Given the description of an element on the screen output the (x, y) to click on. 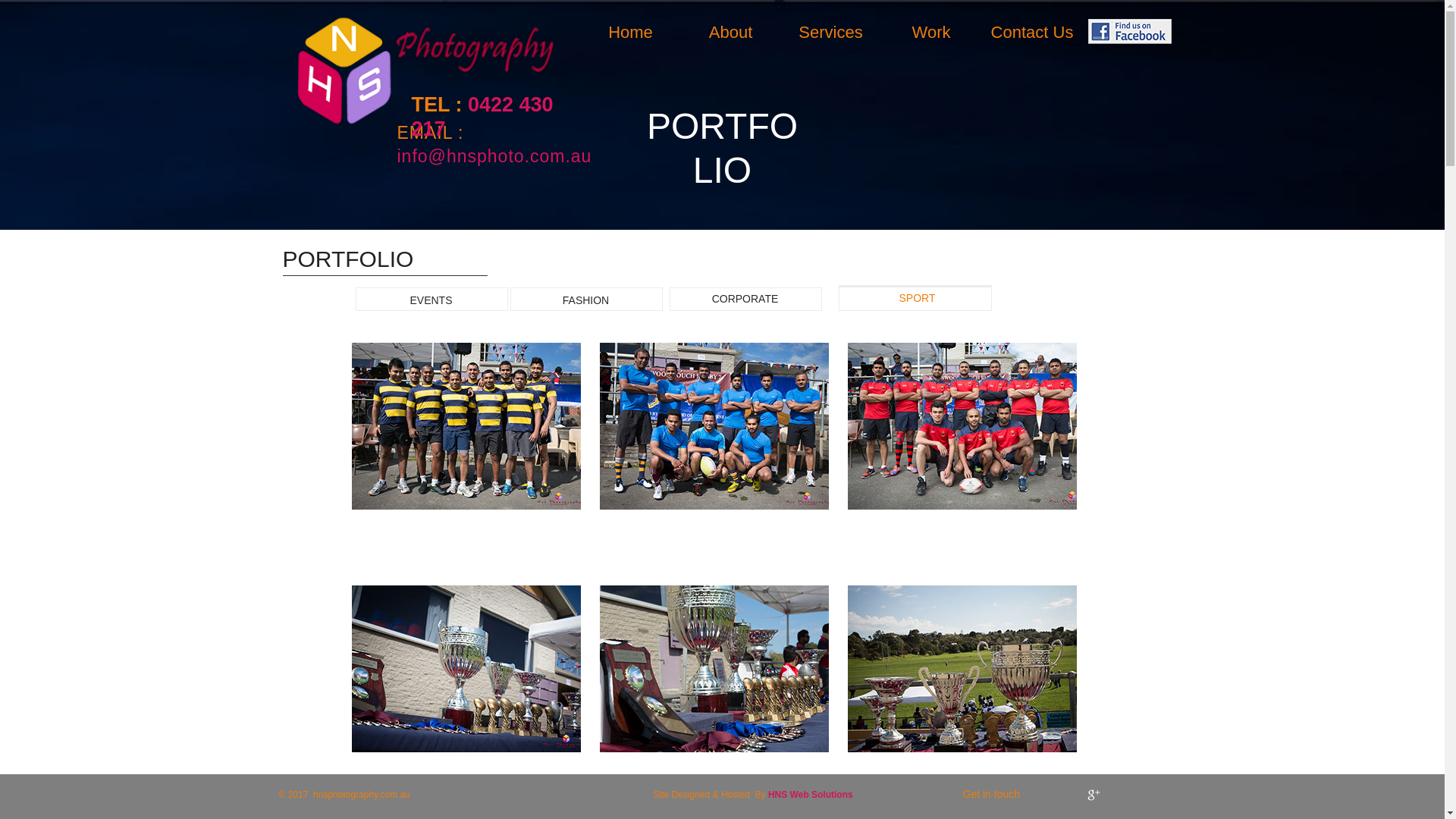
Home Element type: text (629, 32)
info@hnsphoto.com.au Element type: text (494, 156)
Get in touch Element type: text (998, 794)
About Element type: text (729, 32)
Services Element type: text (830, 32)
Contact Us Element type: text (1032, 32)
Work Element type: text (930, 32)
HNS Web Solutions Element type: text (810, 794)
